Given the description of an element on the screen output the (x, y) to click on. 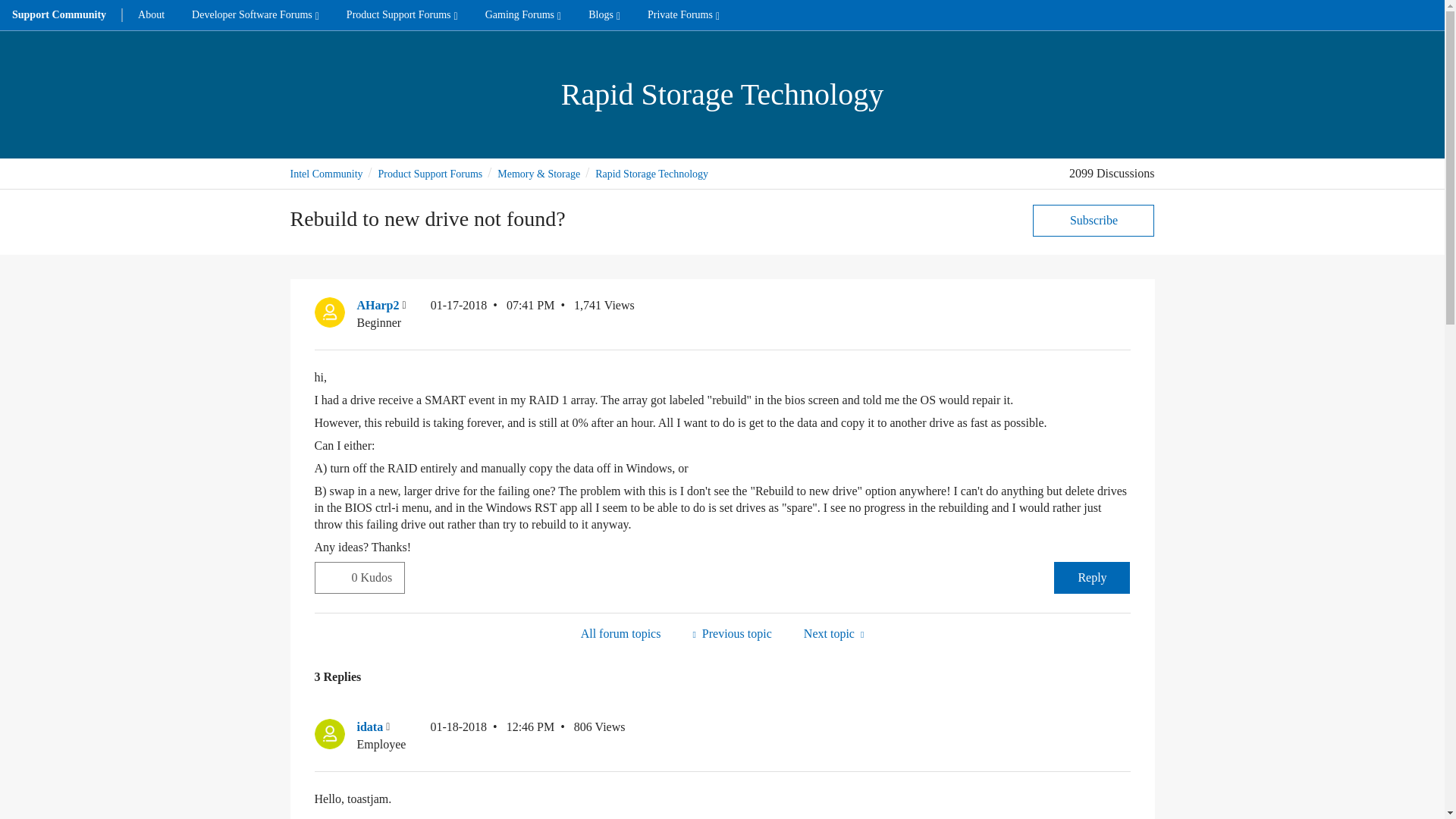
Product Support Forums (402, 15)
Rapid Storage Technology (620, 633)
idata (328, 734)
About (150, 15)
RST Command line tool (731, 633)
Click here to give kudos to this post. (332, 576)
Gaming Forums (523, 15)
AHarp2 (328, 312)
Support Community (58, 15)
Posted on (492, 314)
